Given the description of an element on the screen output the (x, y) to click on. 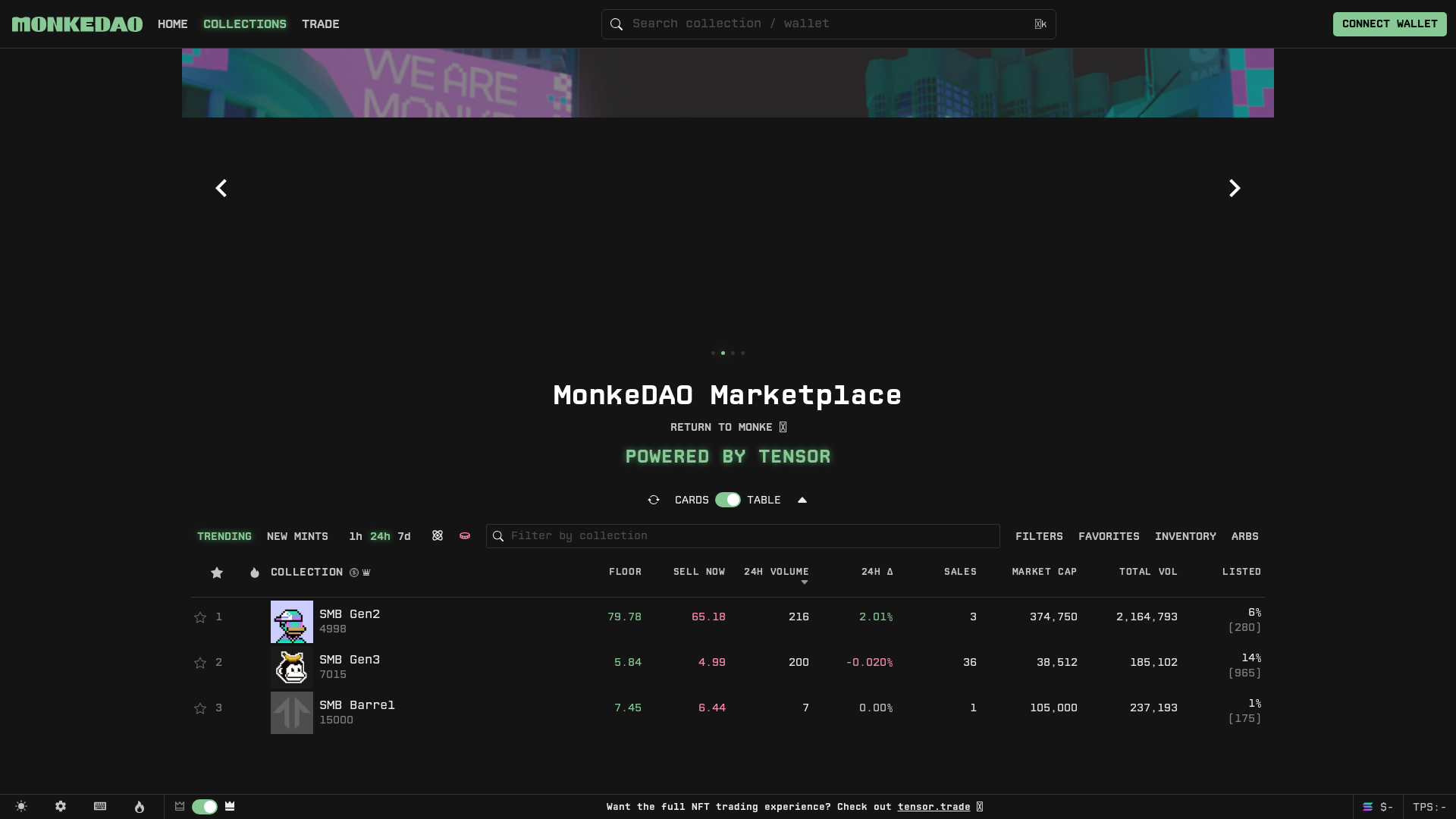
new mints Element type: hover (254, 578)
4.99 Element type: text (686, 662)
185,102 Element type: text (1130, 662)
36 Element type: text (938, 662)
TRENDING Element type: text (224, 536)
NEW MINTS Element type: text (297, 536)
CONNECT WALLET Element type: text (1389, 24)
2,164,793 Element type: text (1130, 616)
6.44 Element type: text (686, 707)
7.45 Element type: text (603, 707)
TRADE Element type: text (320, 24)
5.84 Element type: text (603, 662)
216 Element type: text (770, 616)
POWERED BY TENSOR Element type: text (727, 457)
14%
(965) Element type: text (1222, 665)
374,750 Element type: text (1029, 616)
SMB Gen3
7015 Element type: text (414, 667)
favorites Element type: hover (216, 578)
FAVORITES Element type: text (1108, 536)
2.01% Element type: text (854, 616)
FILTERS Element type: text (1039, 536)
HOME Element type: text (172, 24)
HOME Element type: text (172, 24)
6%
(280) Element type: text (1222, 620)
7 Element type: text (770, 707)
TRADE Element type: text (320, 24)
7d Element type: text (404, 536)
1%
(175) Element type: text (1222, 711)
0.00% Element type: text (854, 707)
237,193 Element type: text (1130, 707)
200 Element type: text (770, 662)
65.18 Element type: text (686, 616)
INVENTORY Element type: text (1185, 536)
105,000 Element type: text (1029, 707)
ARBS Element type: text (1244, 536)
1 Element type: text (938, 707)
24h Element type: text (379, 536)
1h Element type: text (355, 536)
COLLECTIONS Element type: text (244, 24)
SMB Barrel
15000 Element type: text (414, 712)
38,512 Element type: text (1029, 662)
COLLECTIONS Element type: text (244, 24)
SMB Gen2
4998 Element type: text (414, 621)
-0.020% Element type: text (854, 662)
79.78 Element type: text (603, 616)
POWERED BY TENSOR Element type: text (727, 456)
3 Element type: text (938, 616)
